Given the description of an element on the screen output the (x, y) to click on. 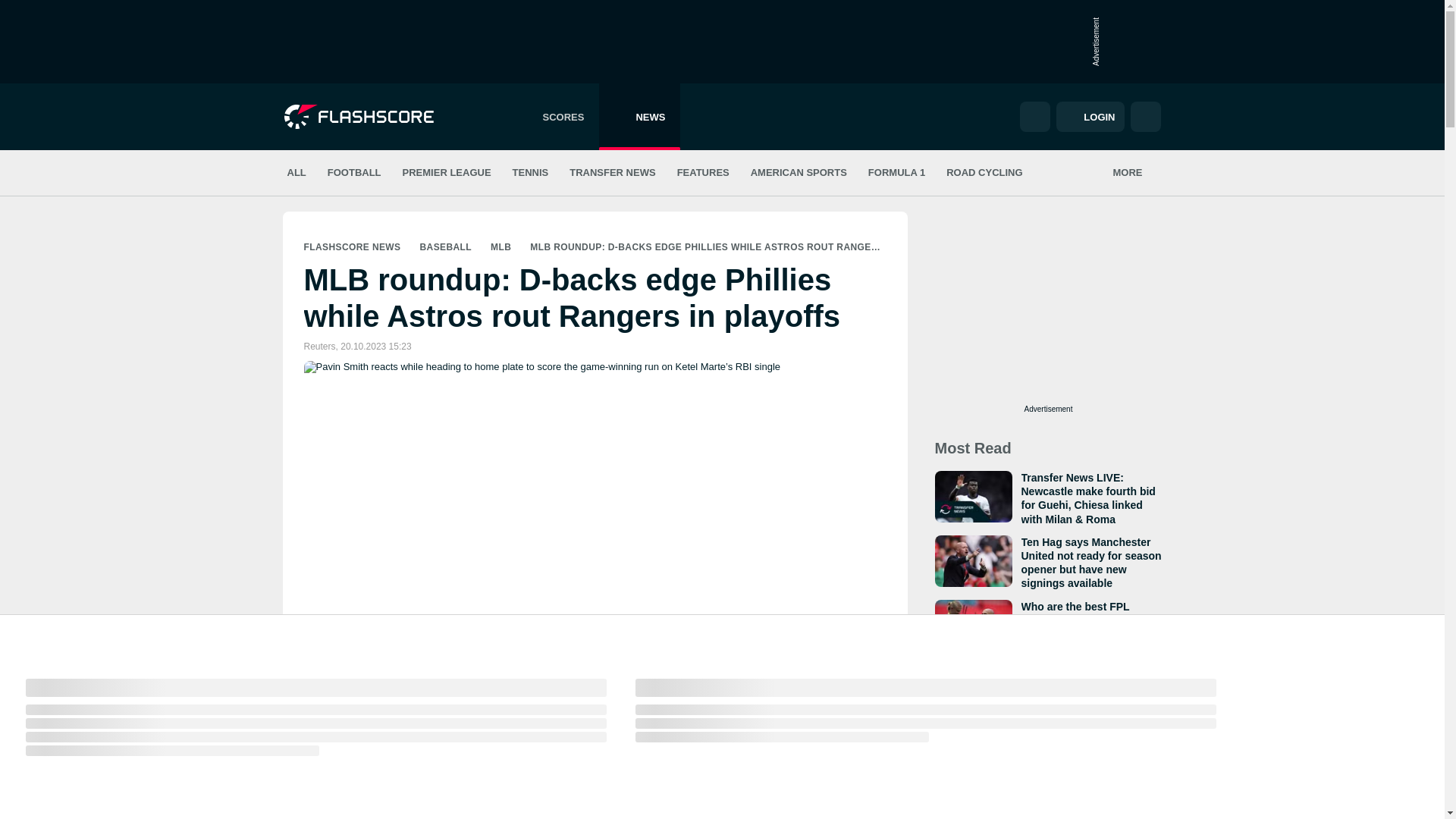
Most Read (972, 447)
BASEBALL (445, 246)
Guehi could be heading to Newcastle (972, 496)
FEATURES (703, 172)
AMERICAN SPORTS (799, 172)
United begin their season on Friday (972, 561)
MLB (500, 246)
NEWS (638, 116)
TRANSFER NEWS (612, 172)
